Given the description of an element on the screen output the (x, y) to click on. 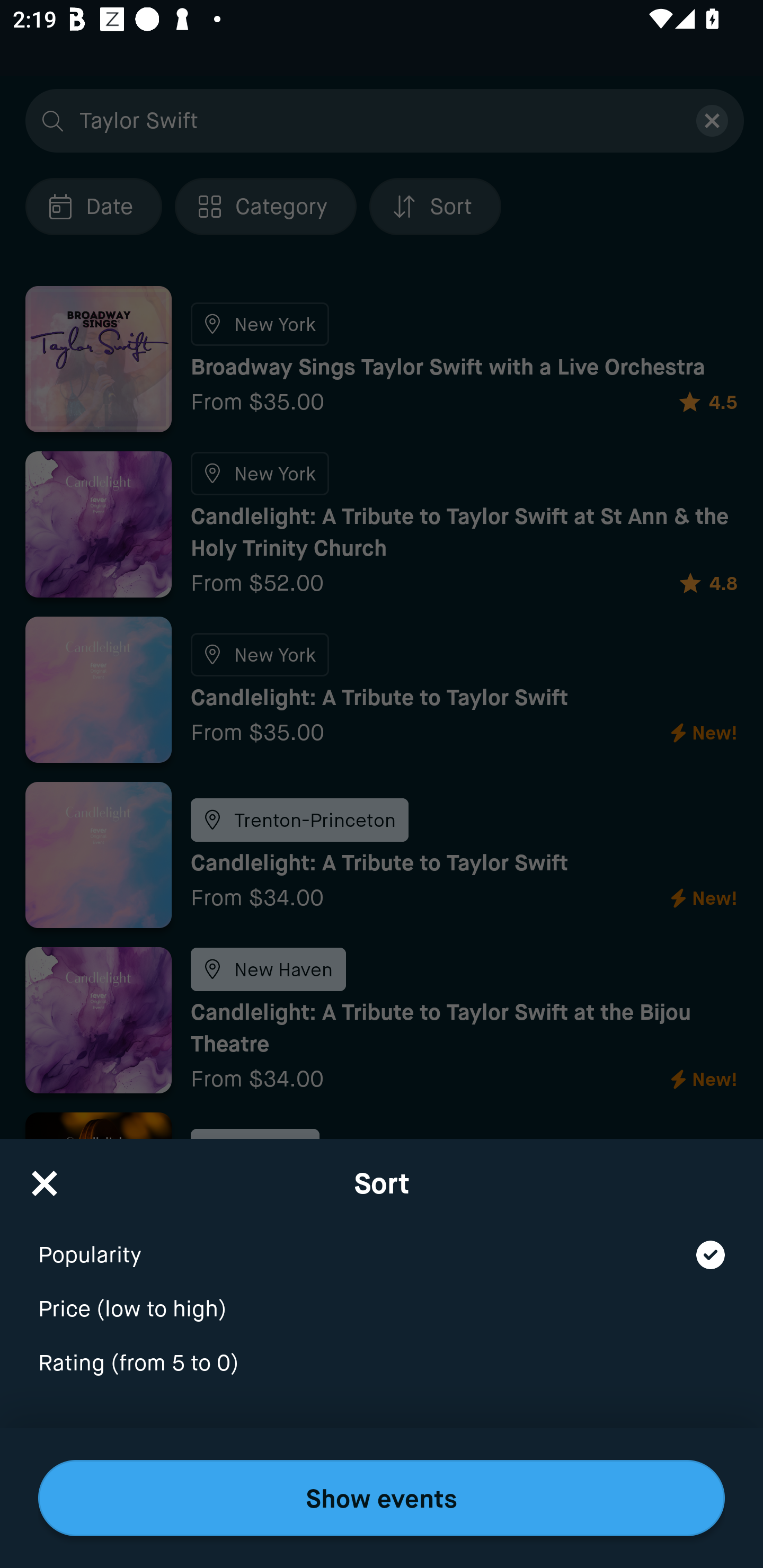
CloseButton (44, 1177)
Popularity Selected Icon (381, 1243)
Price (low to high) (381, 1297)
Rating (from 5 to 0) (381, 1362)
Show events (381, 1497)
